Given the description of an element on the screen output the (x, y) to click on. 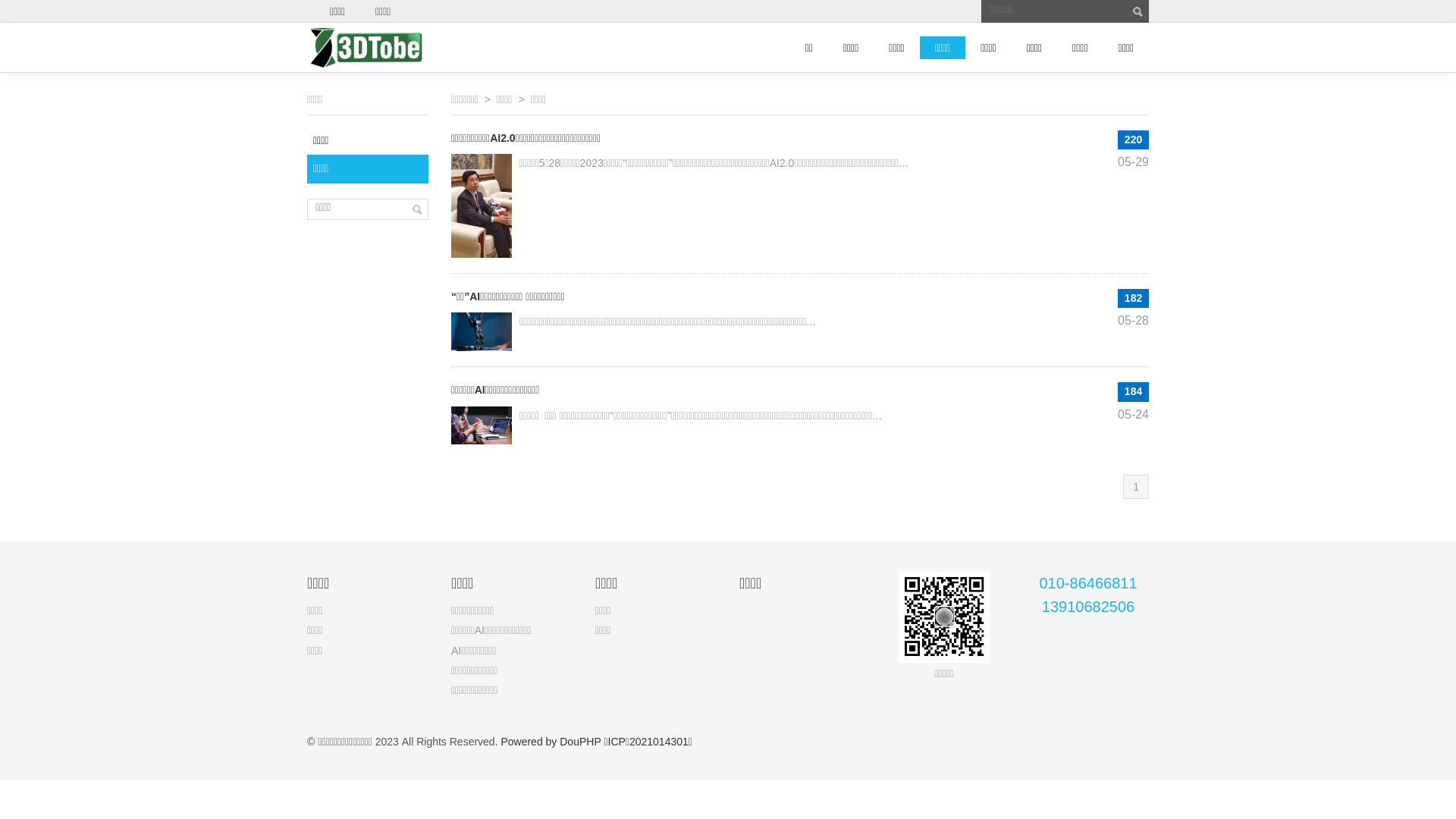
Powered by DouPHP Element type: text (550, 741)
1 Element type: text (1135, 486)
